Given the description of an element on the screen output the (x, y) to click on. 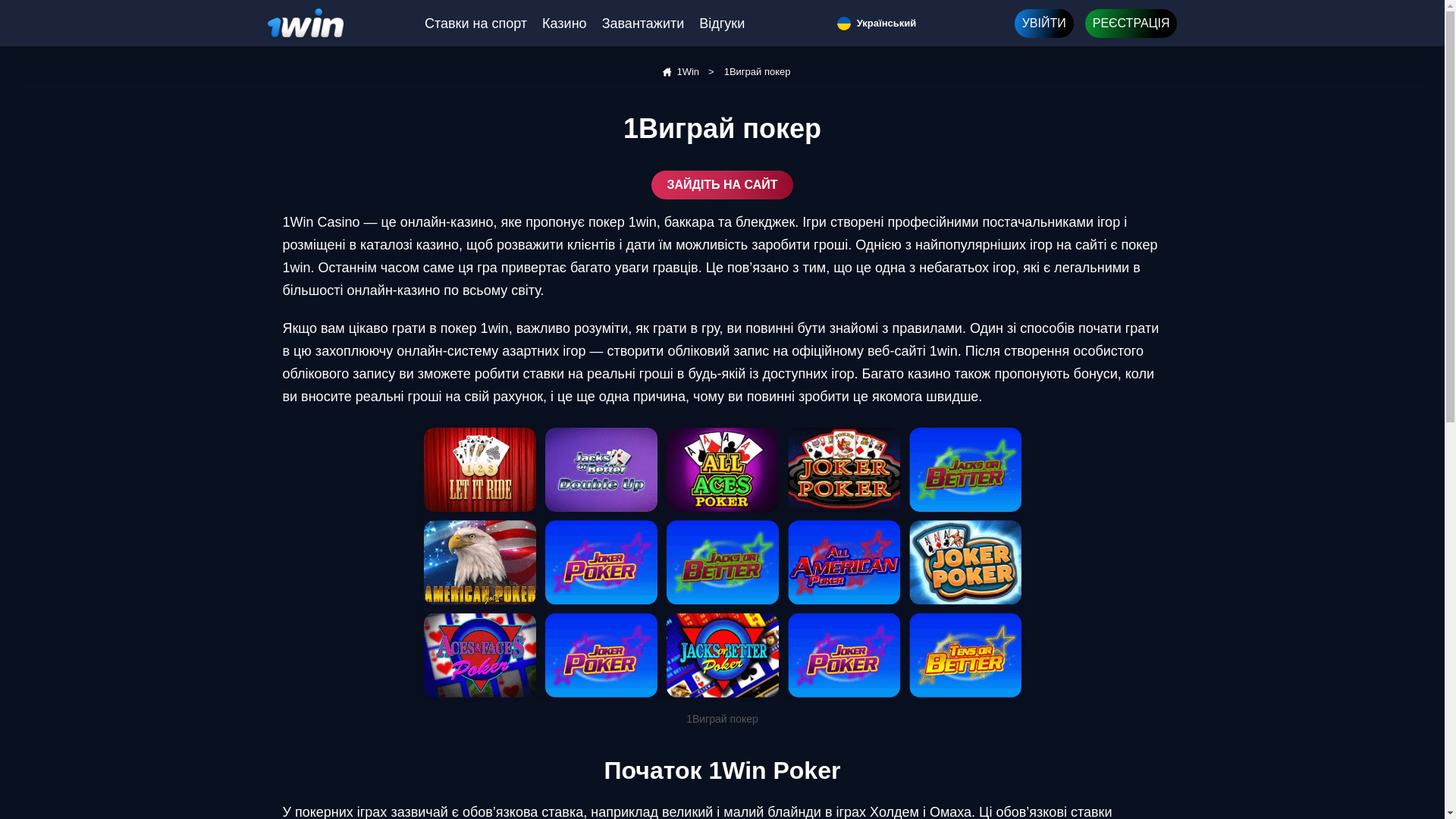
1Win Element type: text (679, 71)
